Given the description of an element on the screen output the (x, y) to click on. 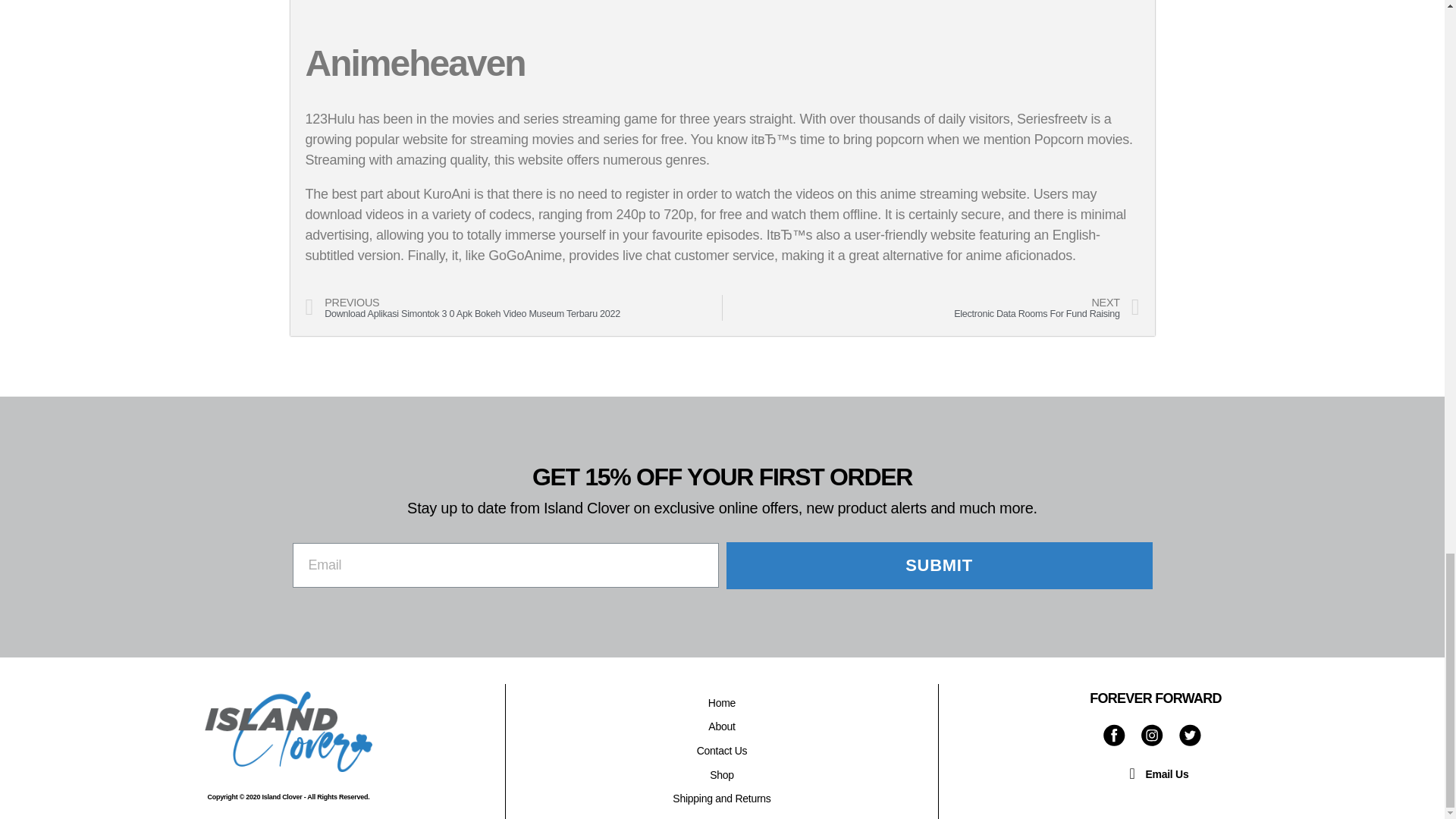
Email Us (1155, 773)
Shop (721, 775)
Home (721, 703)
Contact Us (721, 751)
About (721, 726)
SUBMIT (939, 565)
Shipping and Returns (721, 799)
